Given the description of an element on the screen output the (x, y) to click on. 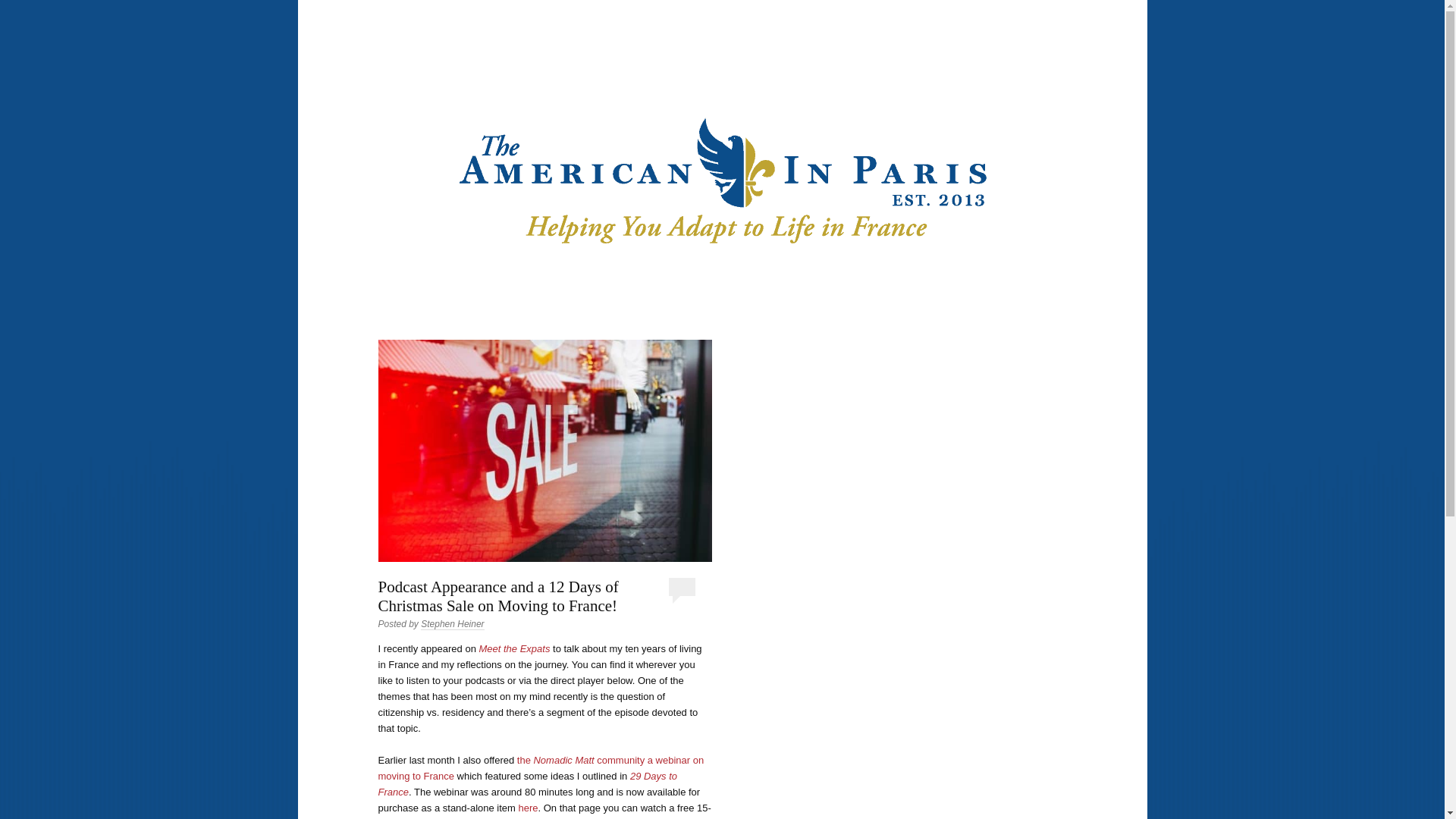
View all posts by Stephen Heiner (451, 624)
The American in Paris (836, 62)
here (528, 808)
29 Days to France (527, 783)
the Nomadic Matt community a webinar on moving to France (540, 768)
Stephen Heiner (451, 624)
Meet the Expats (514, 648)
The American in Paris (836, 62)
